Given the description of an element on the screen output the (x, y) to click on. 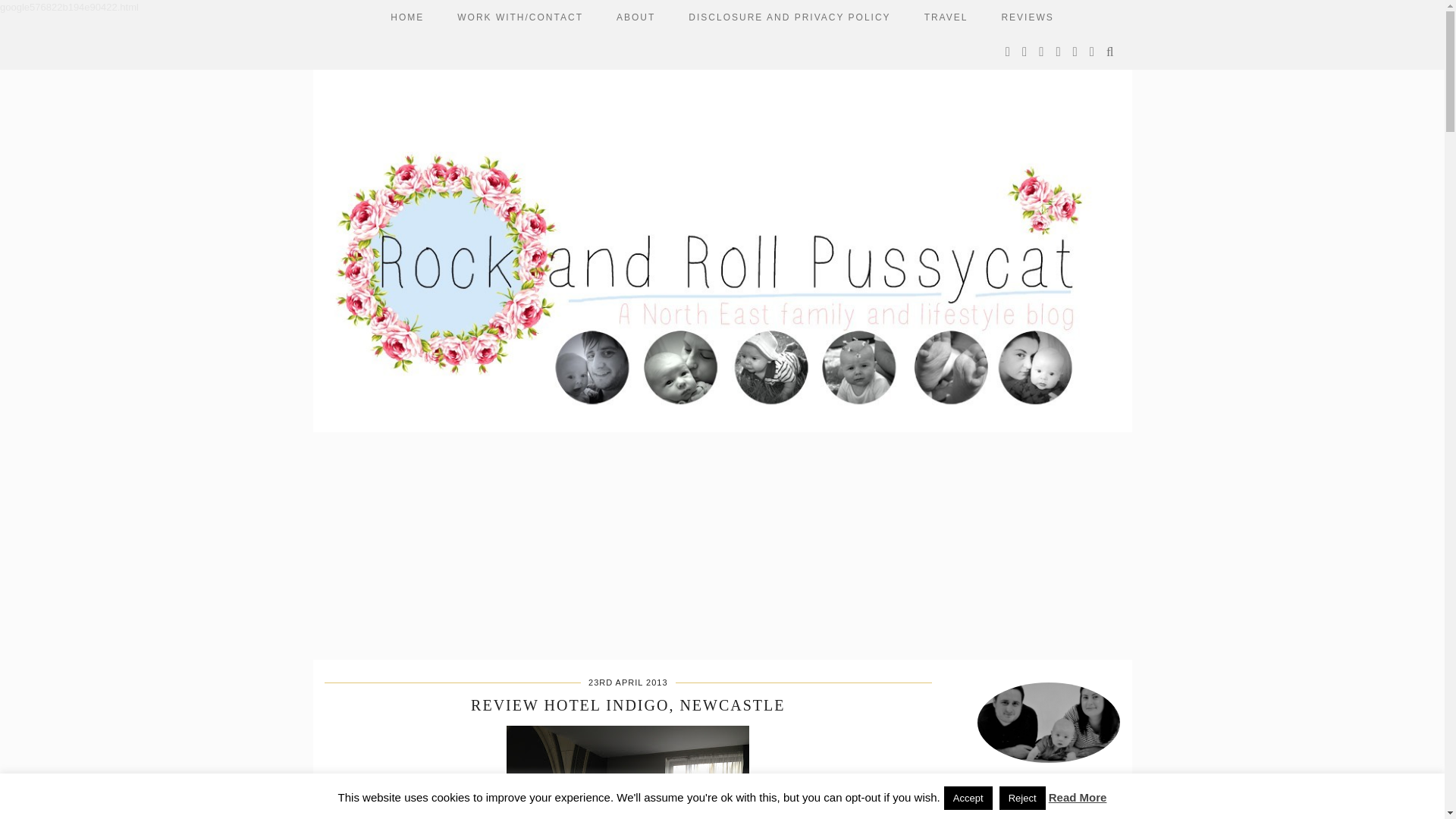
DISCLOSURE AND PRIVACY POLICY (789, 17)
ABOUT (635, 17)
REVIEWS (1027, 17)
TRAVEL (946, 17)
HOME (407, 17)
